Given the description of an element on the screen output the (x, y) to click on. 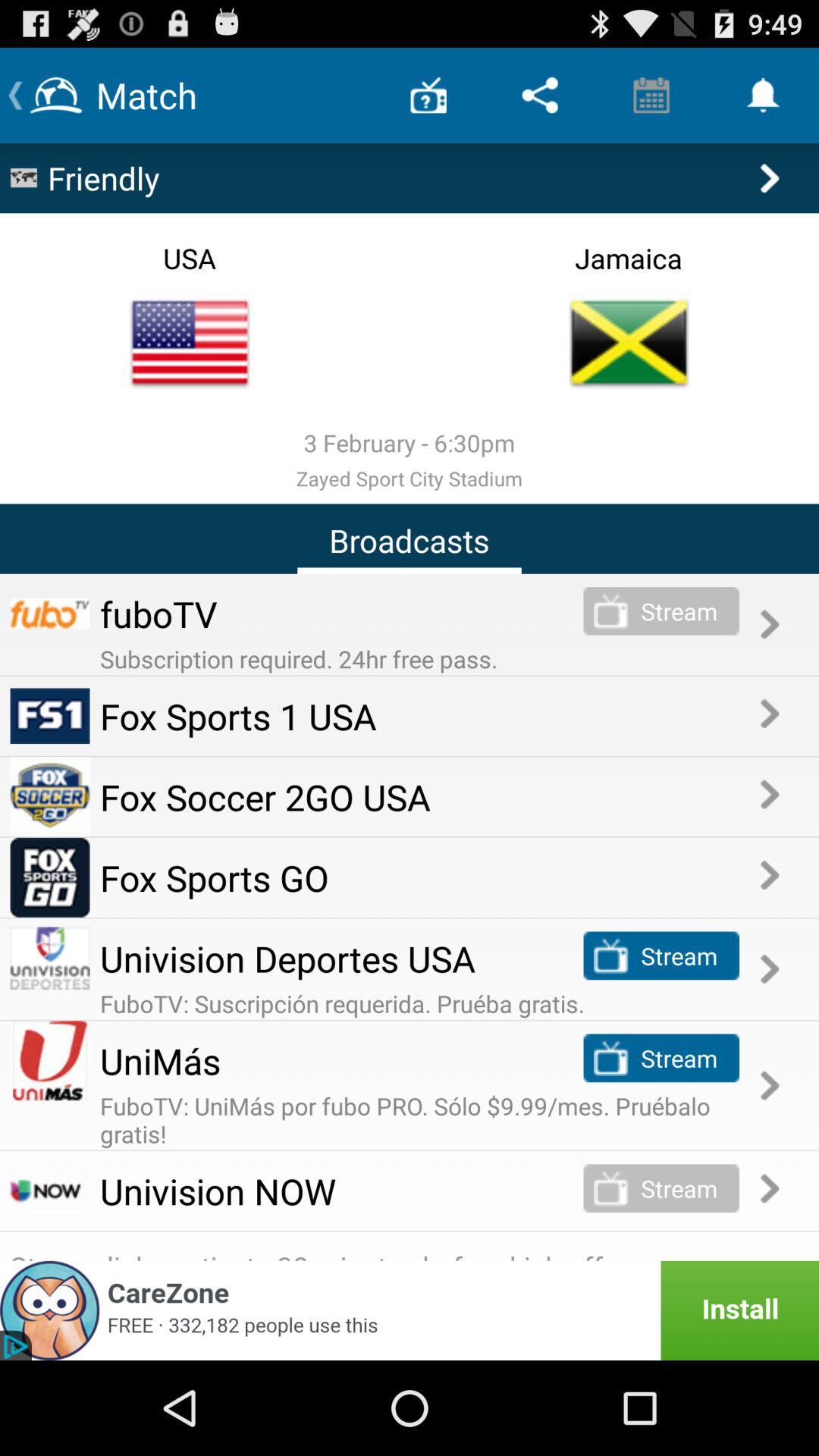
install advertisement (409, 1310)
